Given the description of an element on the screen output the (x, y) to click on. 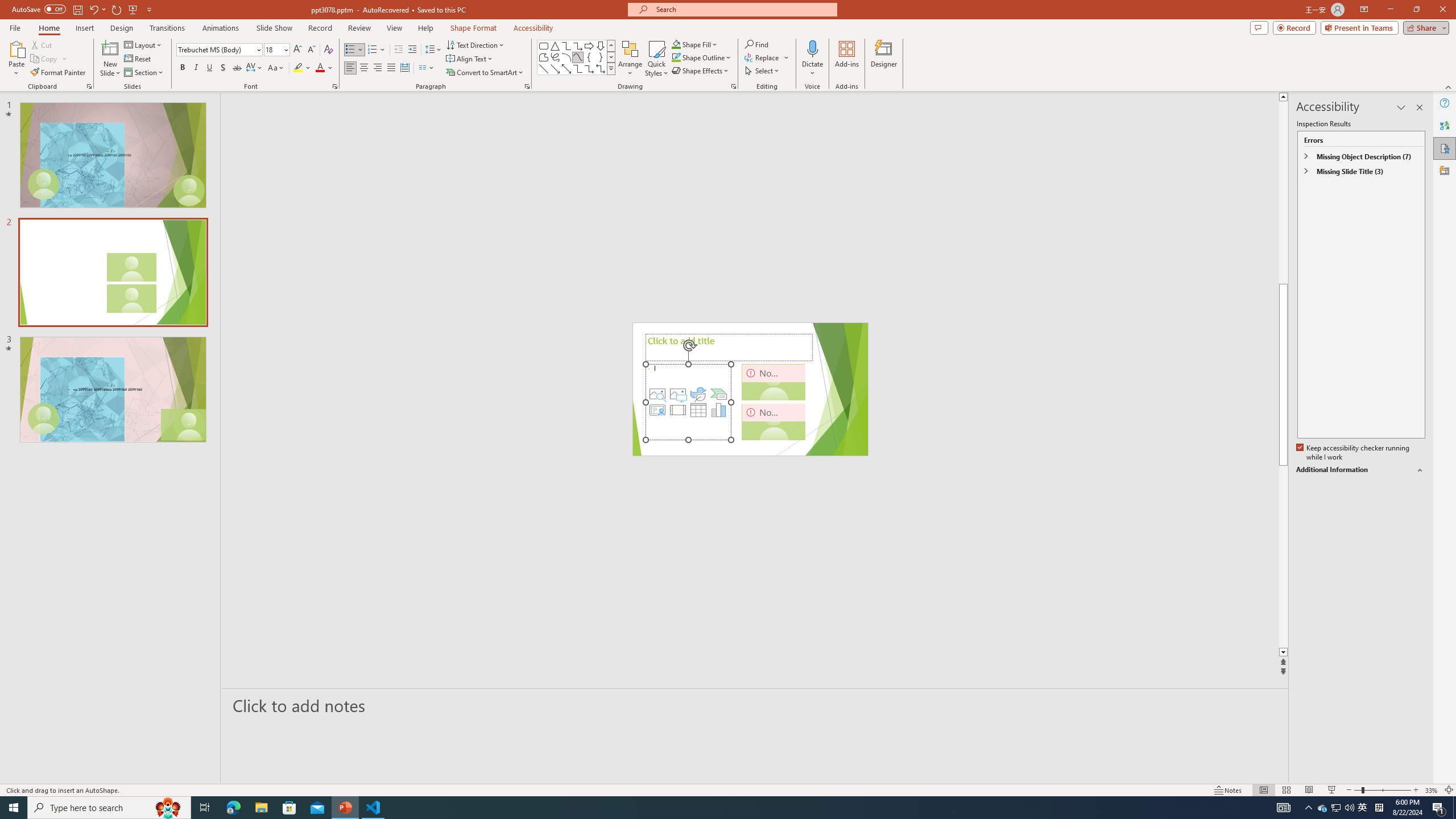
Shape Effects (700, 69)
